Given the description of an element on the screen output the (x, y) to click on. 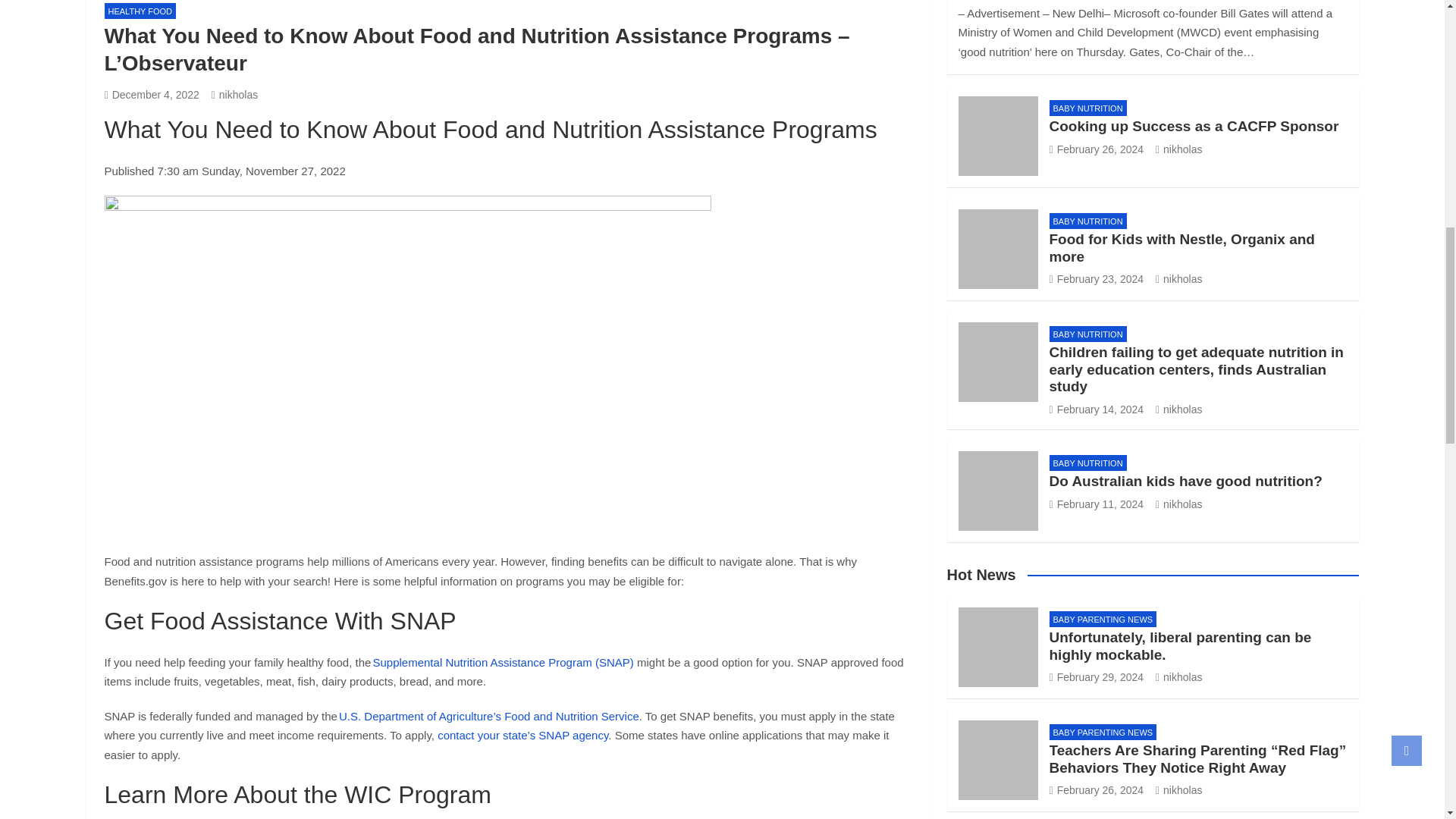
Cooking up Success as a CACFP Sponsor (1096, 149)
Unfortunately, liberal parenting can be highly mockable. (1096, 676)
HEALTHY FOOD (140, 10)
Food for Kids with Nestle, Organix and more (1096, 278)
Do Australian kids have good nutrition? (1096, 503)
December 4, 2022 (151, 94)
nikholas (235, 94)
